Given the description of an element on the screen output the (x, y) to click on. 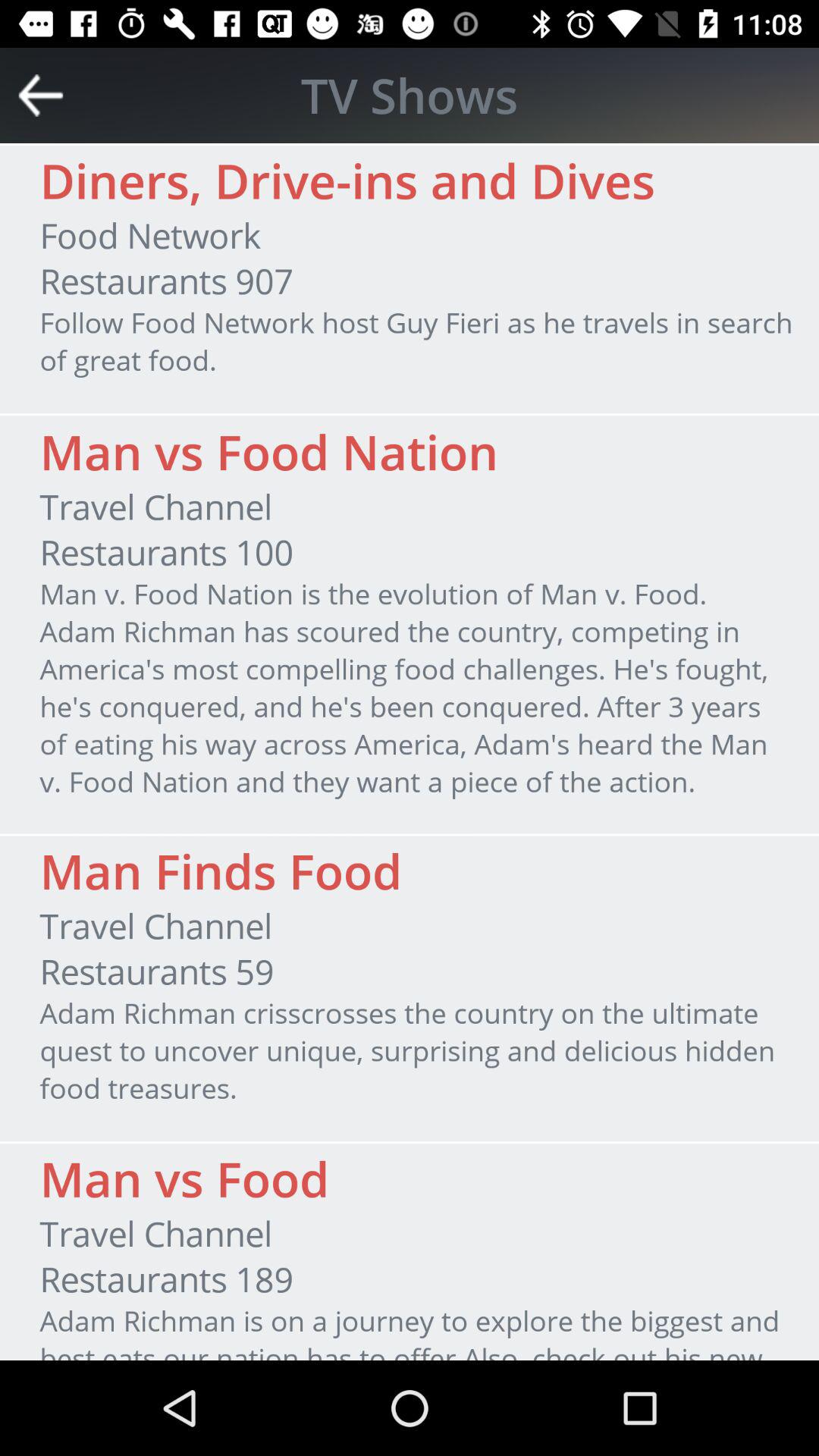
launch the tv shows item (409, 95)
